Given the description of an element on the screen output the (x, y) to click on. 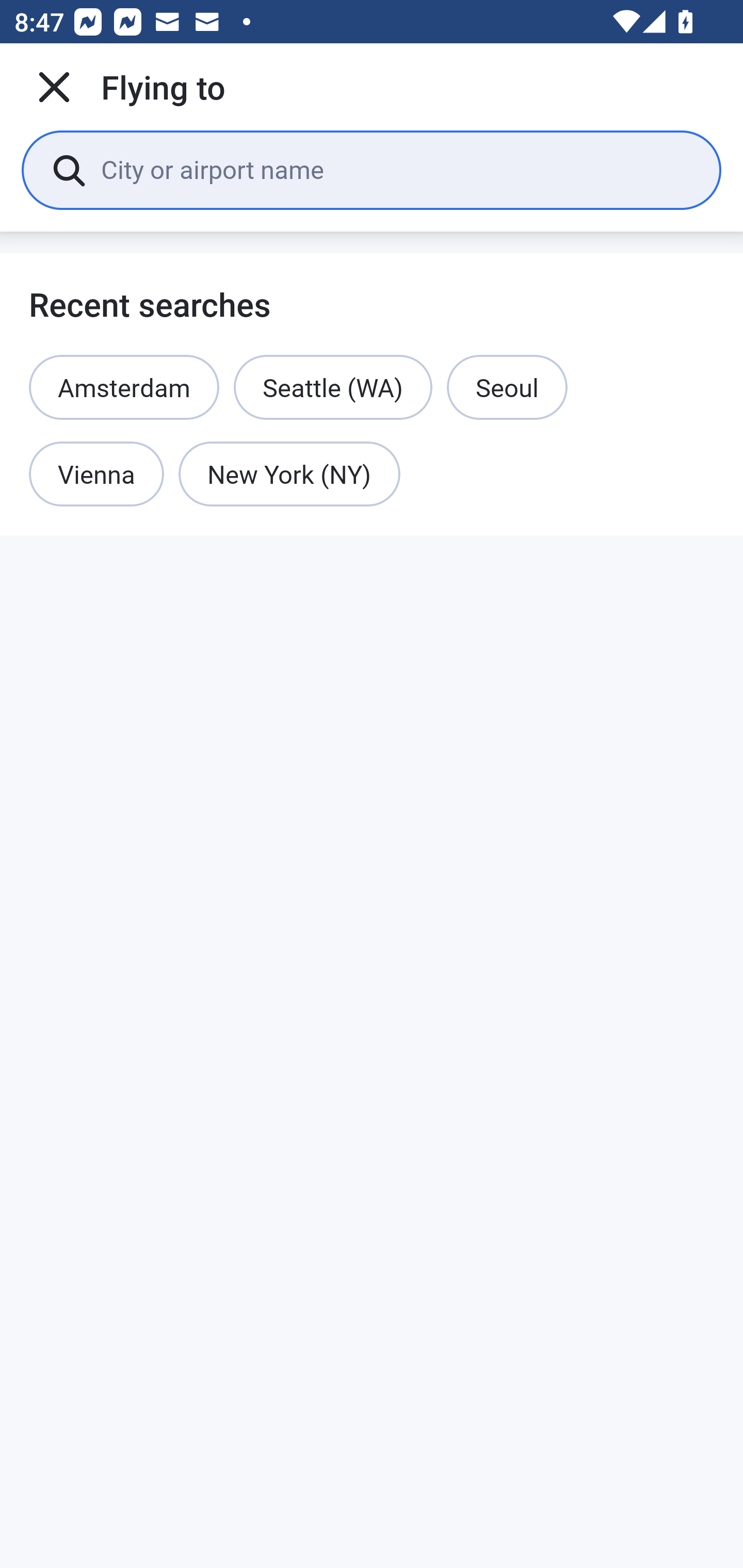
City or airport name (396, 169)
Amsterdam (123, 387)
Seattle (WA) (333, 387)
Seoul (506, 387)
Vienna (96, 474)
New York (NY) (289, 474)
